Given the description of an element on the screen output the (x, y) to click on. 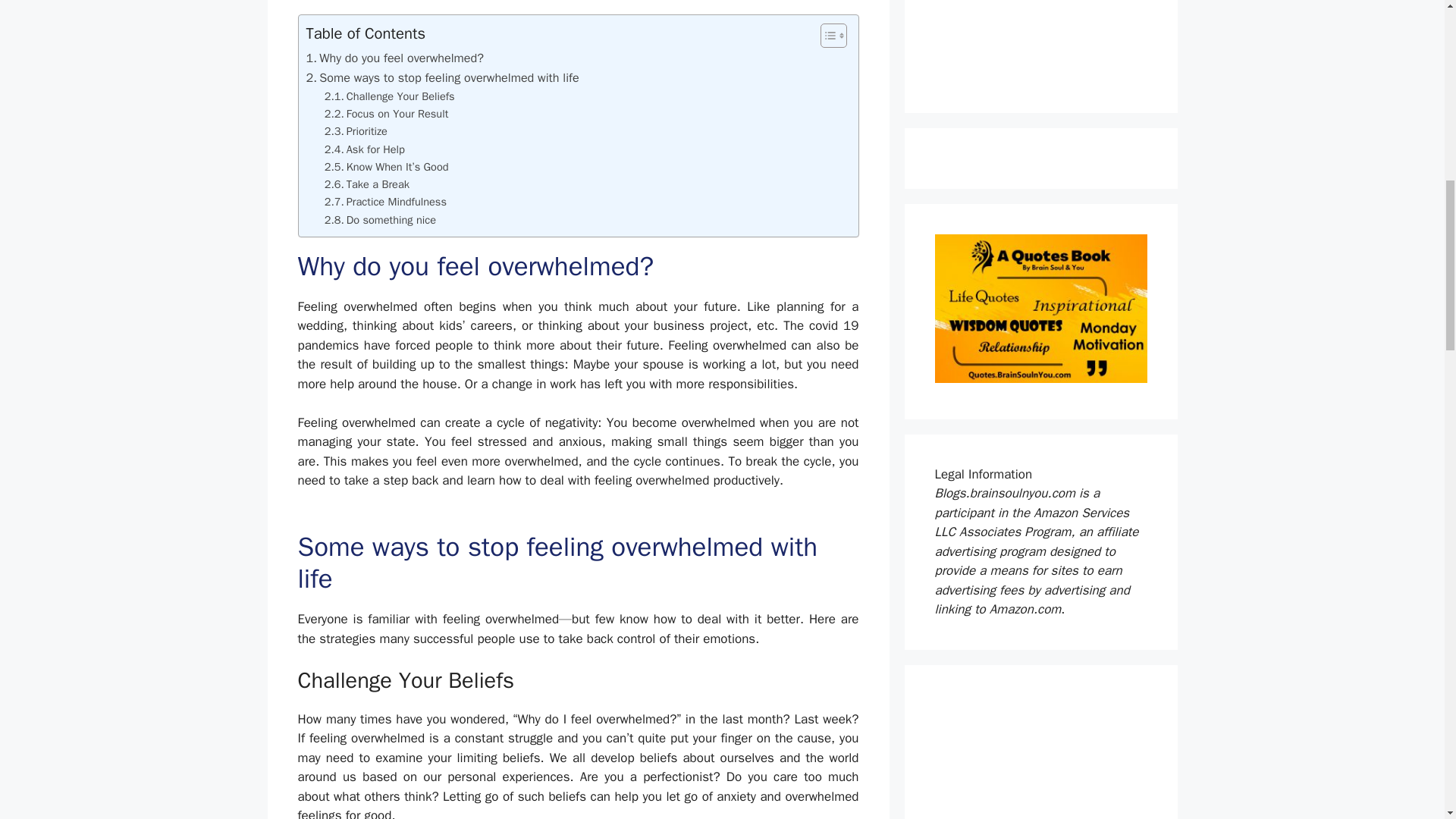
Take a Break (366, 184)
Why do you feel overwhelmed? (394, 57)
Why do you feel overwhelmed? (394, 57)
Some ways to stop feeling overwhelmed with life (442, 77)
Focus on Your Result (386, 113)
Ask for Help (364, 149)
Challenge Your Beliefs (389, 96)
Do something nice (379, 220)
Practice Mindfulness (385, 201)
Challenge Your Beliefs (389, 96)
